Given the description of an element on the screen output the (x, y) to click on. 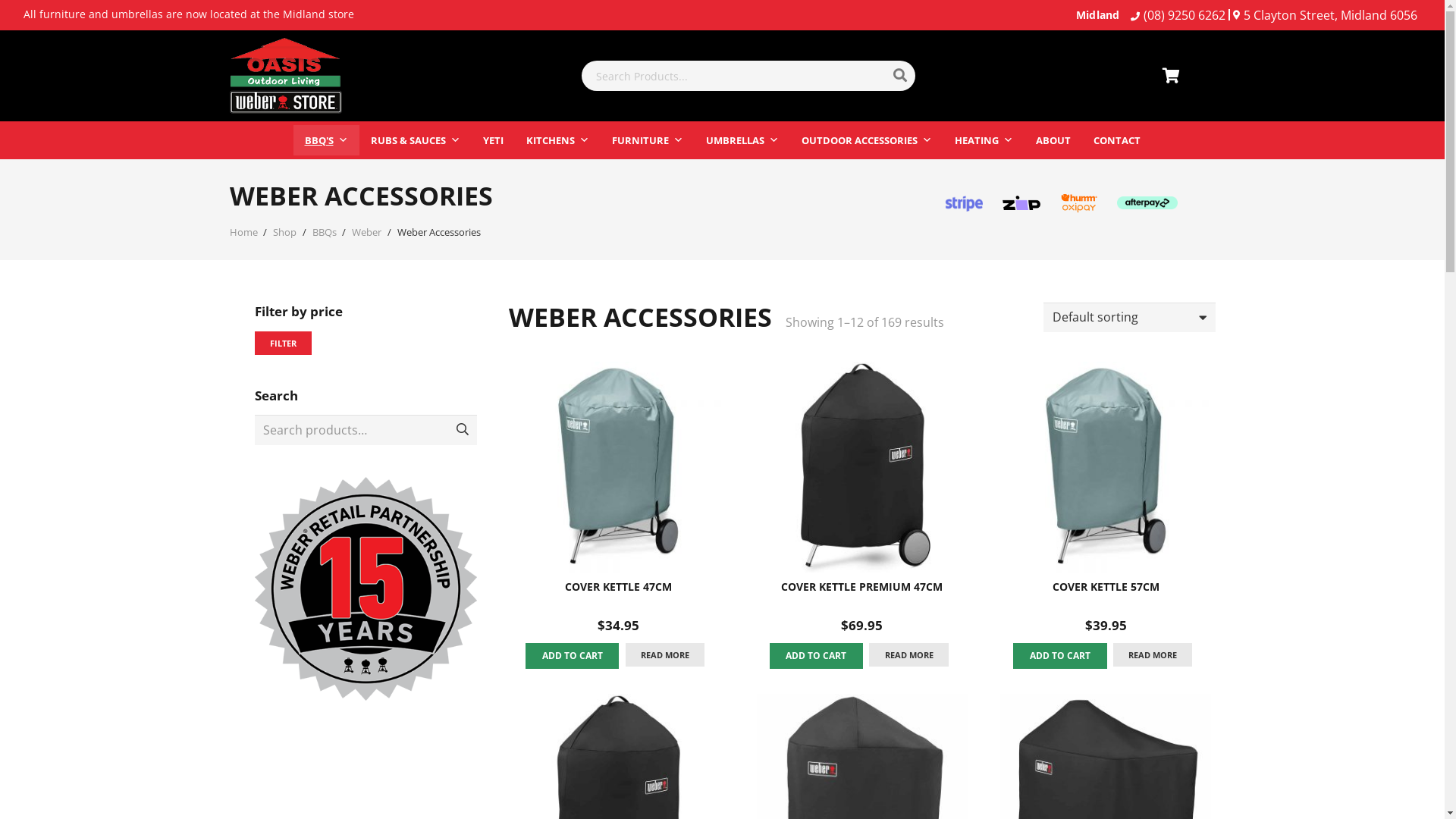
(08) 9250 6262 Element type: text (1177, 15)
CONTACT Element type: text (1116, 140)
KITCHENS Element type: text (556, 140)
ADD TO CART Element type: text (815, 655)
READ MORE Element type: text (1152, 654)
OUTDOOR ACCESSORIES Element type: text (866, 140)
ADD TO CART Element type: text (1059, 655)
UMBRELLAS Element type: text (742, 140)
ABOUT Element type: text (1052, 140)
COVER KETTLE 47CM
$34.95 Element type: text (617, 497)
BBQs Element type: text (324, 231)
BBQ'S Element type: text (325, 140)
COVER KETTLE 57CM
$39.95 Element type: text (1106, 497)
READ MORE Element type: text (664, 654)
Shop Element type: text (284, 231)
5 Clayton Street, Midland 6056 Element type: text (1325, 15)
YETI Element type: text (492, 140)
ADD TO CART Element type: text (571, 655)
READ MORE Element type: text (908, 654)
SEARCH Element type: text (461, 429)
FILTER Element type: text (282, 342)
COVER KETTLE PREMIUM 47CM
$69.95 Element type: text (862, 497)
FURNITURE Element type: text (647, 140)
RUBS & SAUCES Element type: text (415, 140)
Weber Element type: text (366, 231)
Home Element type: text (243, 231)
HEATING Element type: text (983, 140)
